Given the description of an element on the screen output the (x, y) to click on. 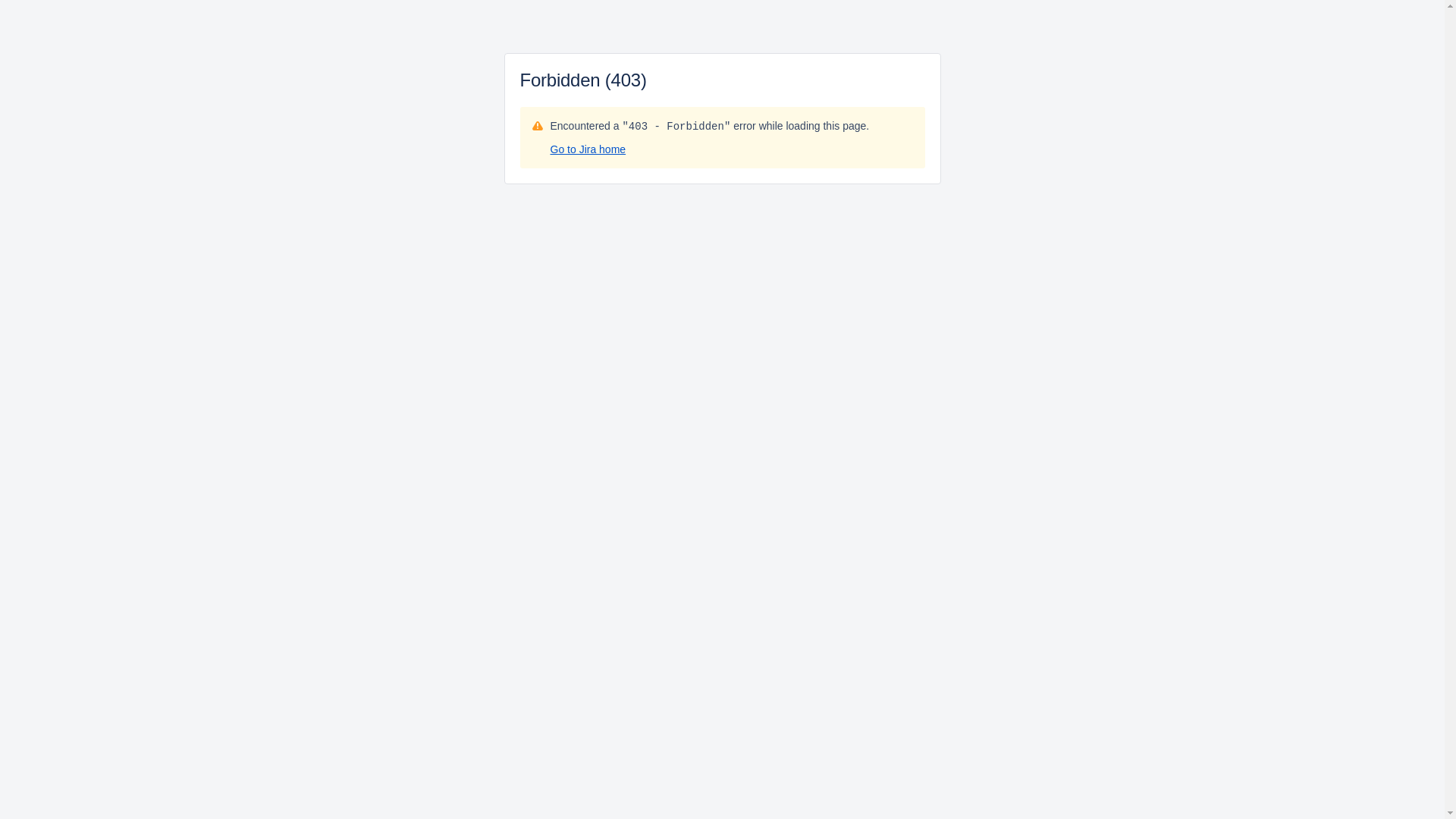
Go to Jira home Element type: text (588, 149)
